Given the description of an element on the screen output the (x, y) to click on. 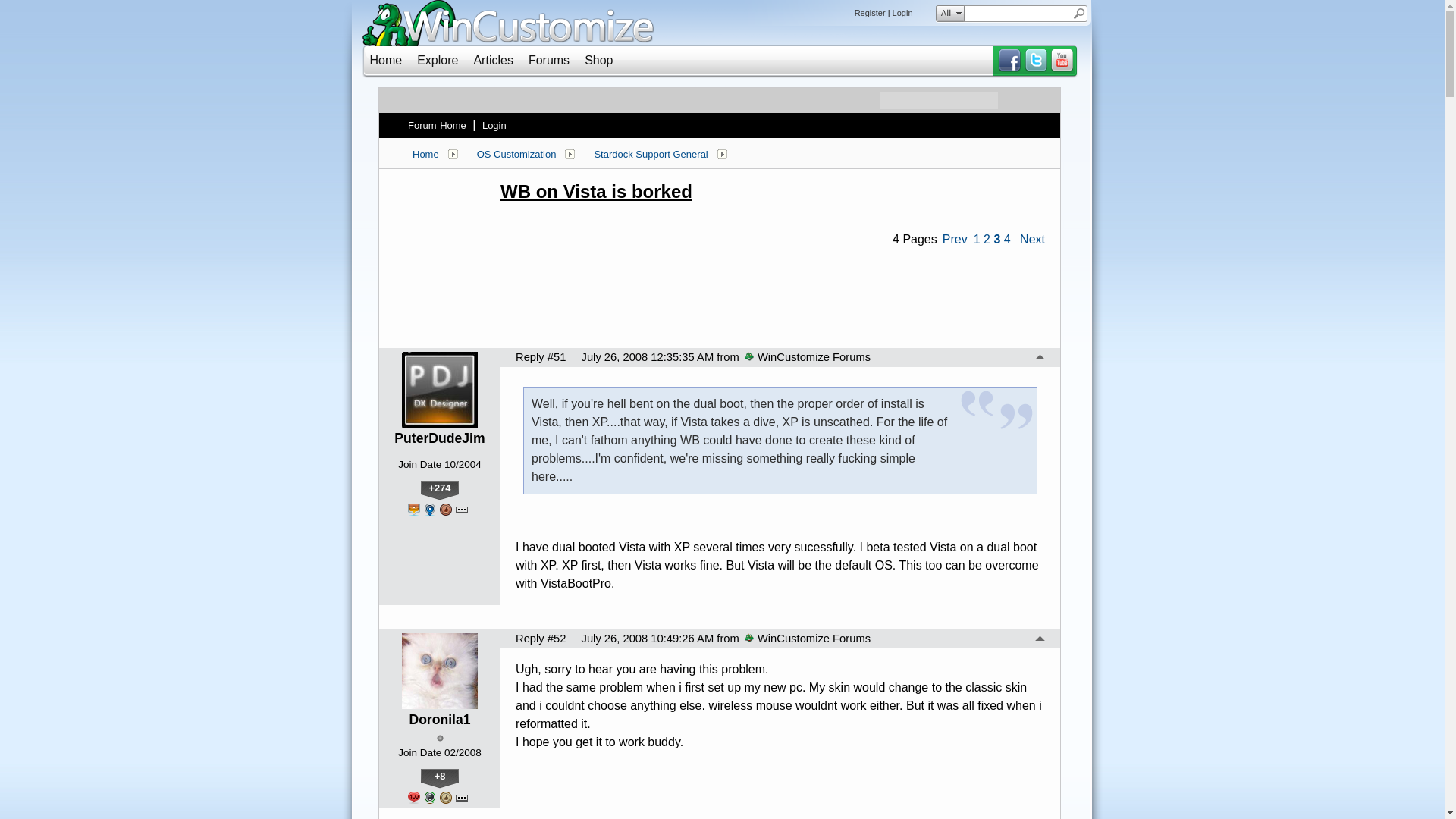
Login (902, 12)
OS Customization (516, 154)
Forums (548, 60)
query (1018, 14)
Home (425, 154)
Forum Home (436, 125)
Click to view original post (771, 191)
all (946, 13)
Home (386, 60)
Explore (437, 60)
